Given the description of an element on the screen output the (x, y) to click on. 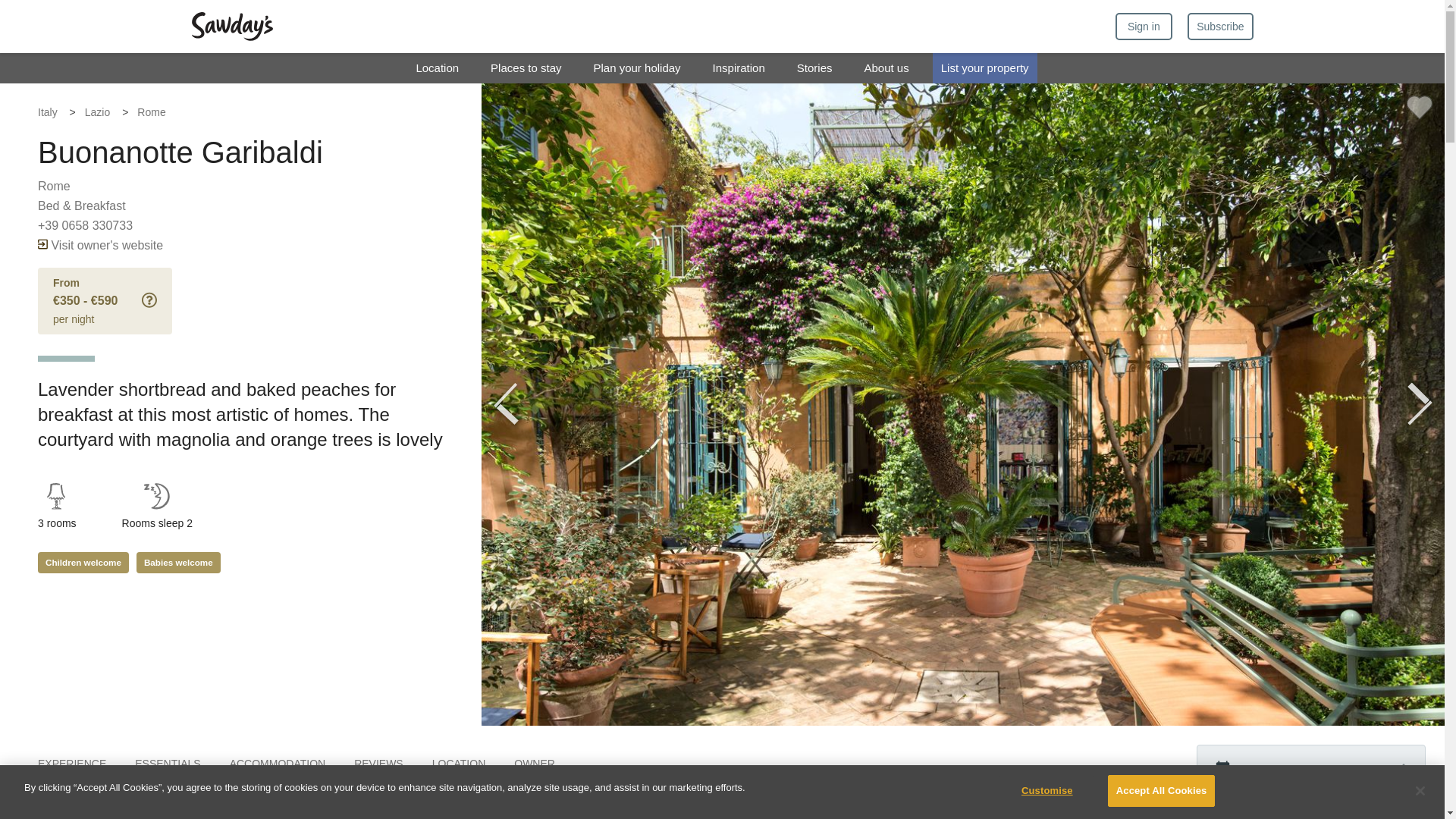
Sign in (1143, 26)
Location (436, 68)
Favourite (1419, 106)
Sleeps (156, 496)
Sawday's (231, 26)
Subscribe (1220, 26)
Sign in (1143, 26)
Sawday's (231, 26)
Subscribe (1220, 26)
Bedroom (56, 496)
